Given the description of an element on the screen output the (x, y) to click on. 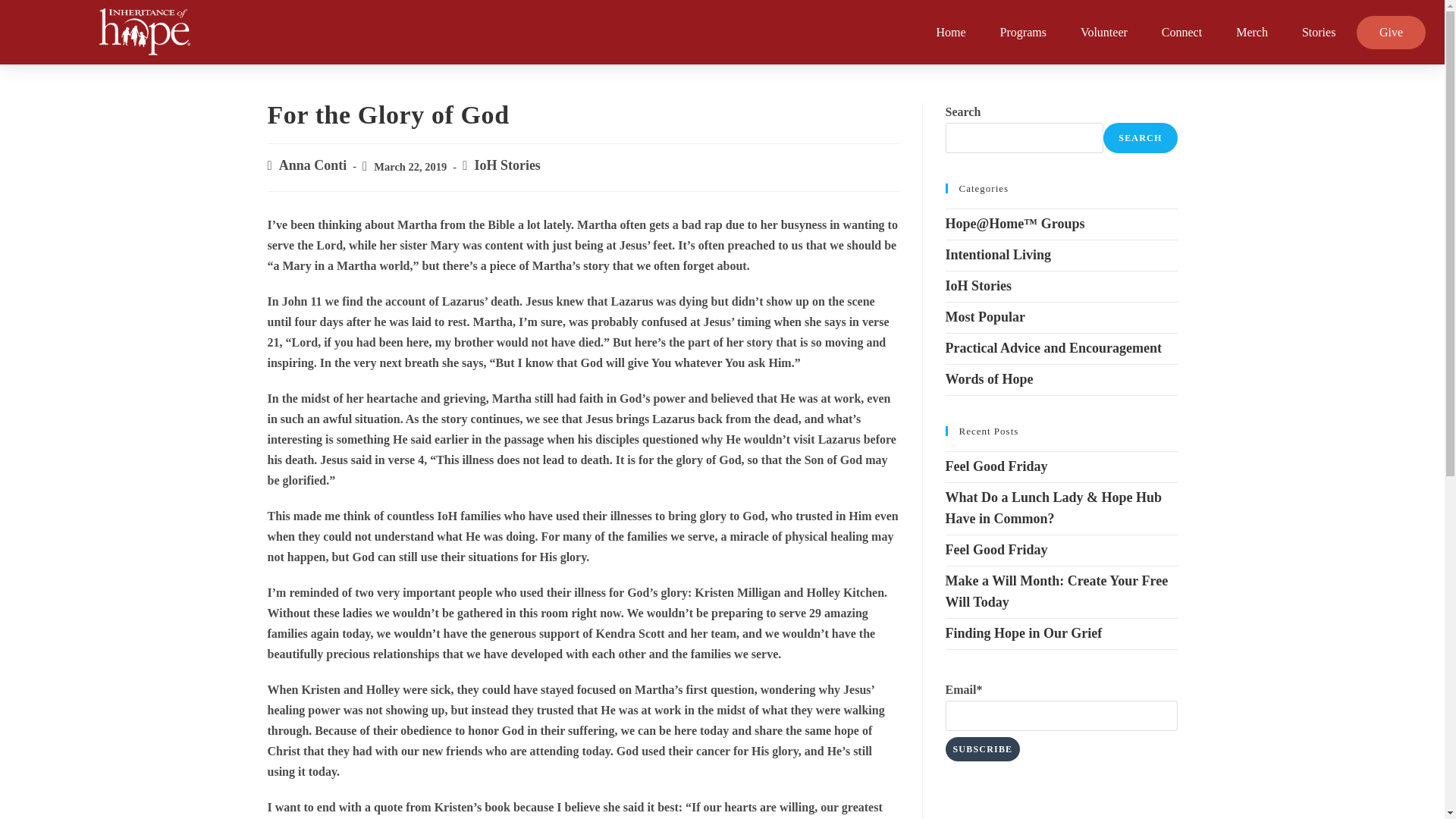
Posts by Anna Conti (313, 165)
Connect (1181, 32)
Subscribe (982, 749)
Volunteer (1103, 32)
Give (1390, 31)
Programs (1023, 32)
